Given the description of an element on the screen output the (x, y) to click on. 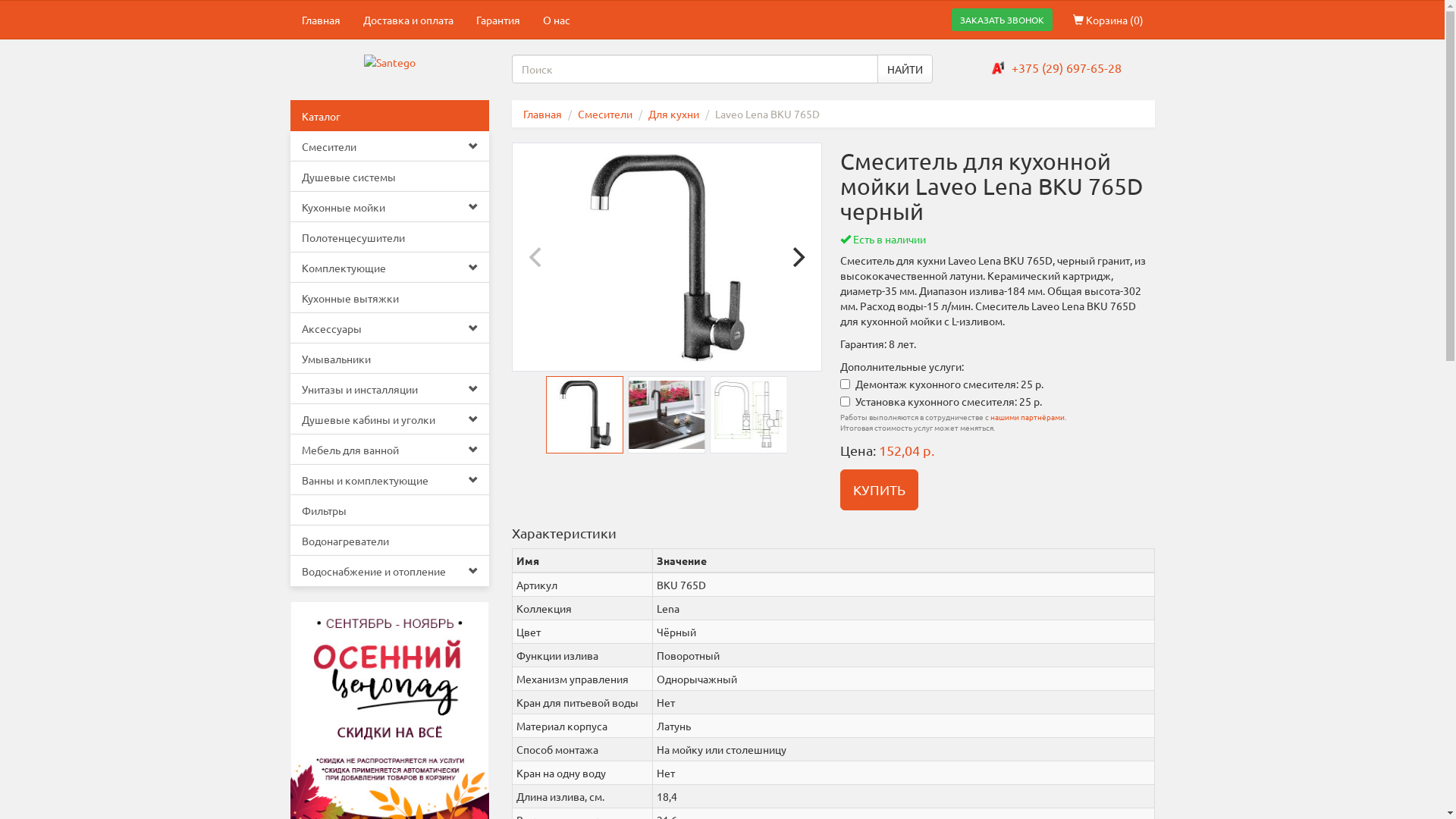
+375 (29) 697-65-28 Element type: text (1066, 67)
